Given the description of an element on the screen output the (x, y) to click on. 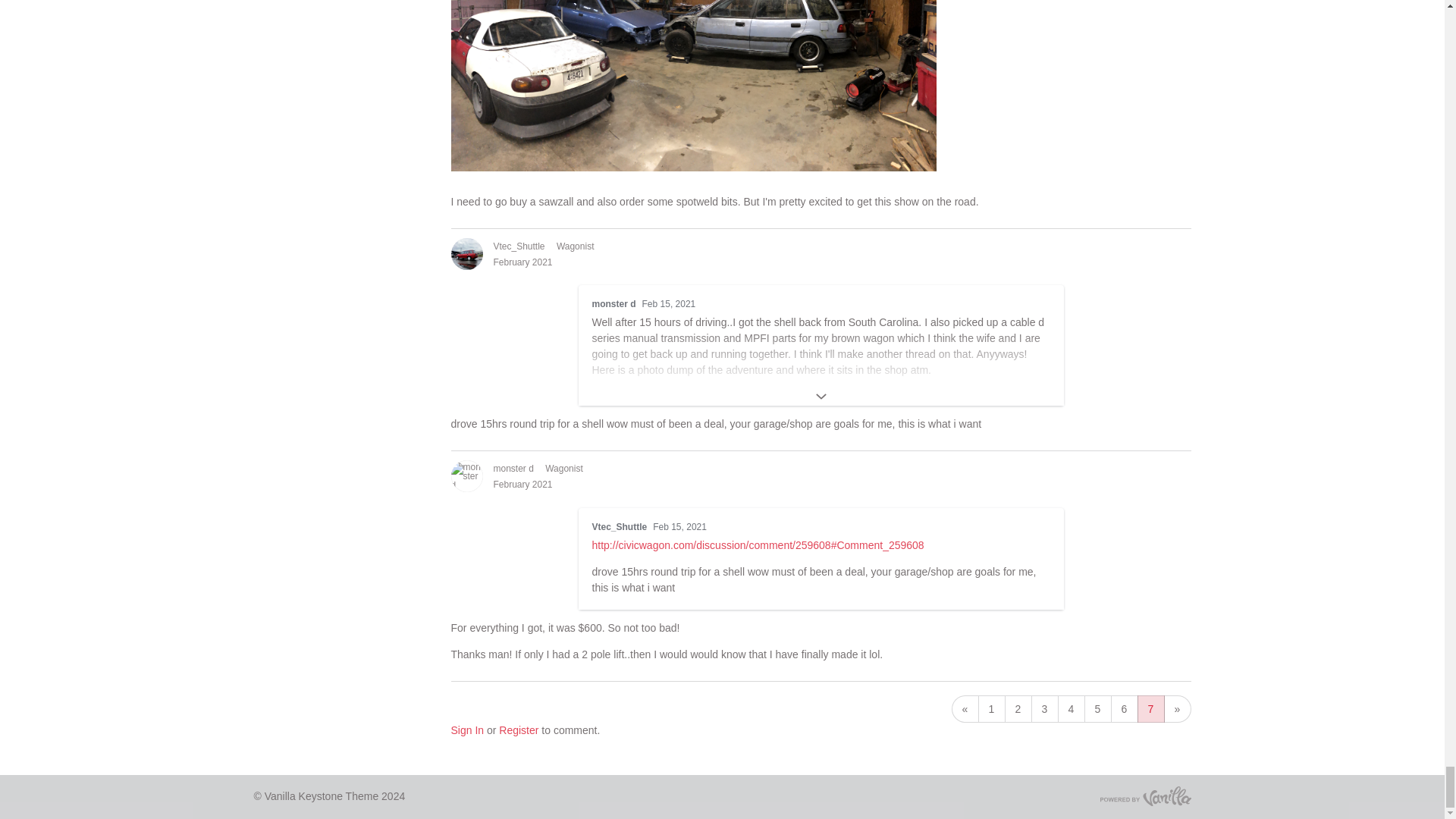
Powered By Vanilla (1145, 795)
Expand (819, 396)
